Given the description of an element on the screen output the (x, y) to click on. 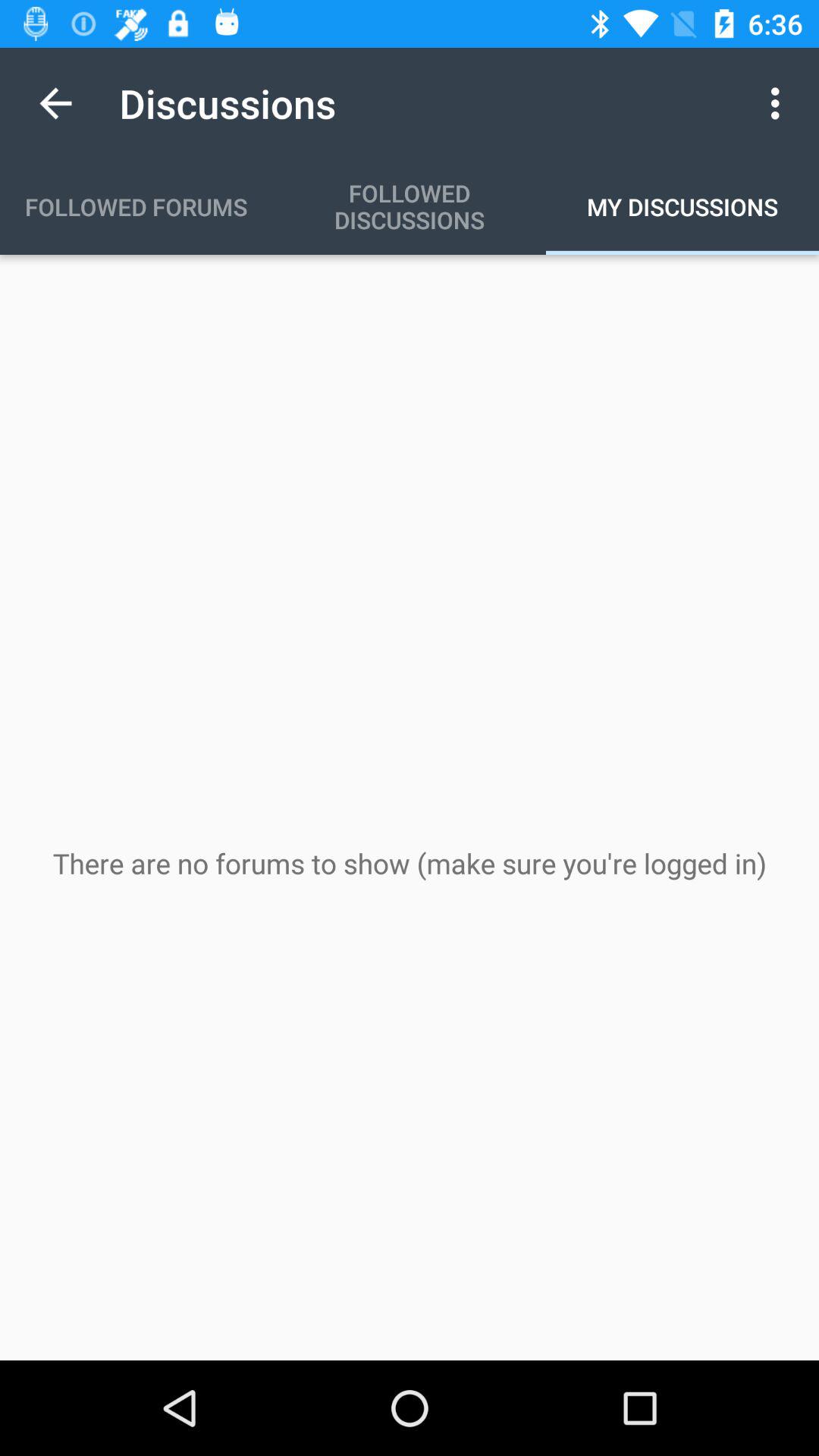
tap icon to the right of the discussions item (779, 103)
